Given the description of an element on the screen output the (x, y) to click on. 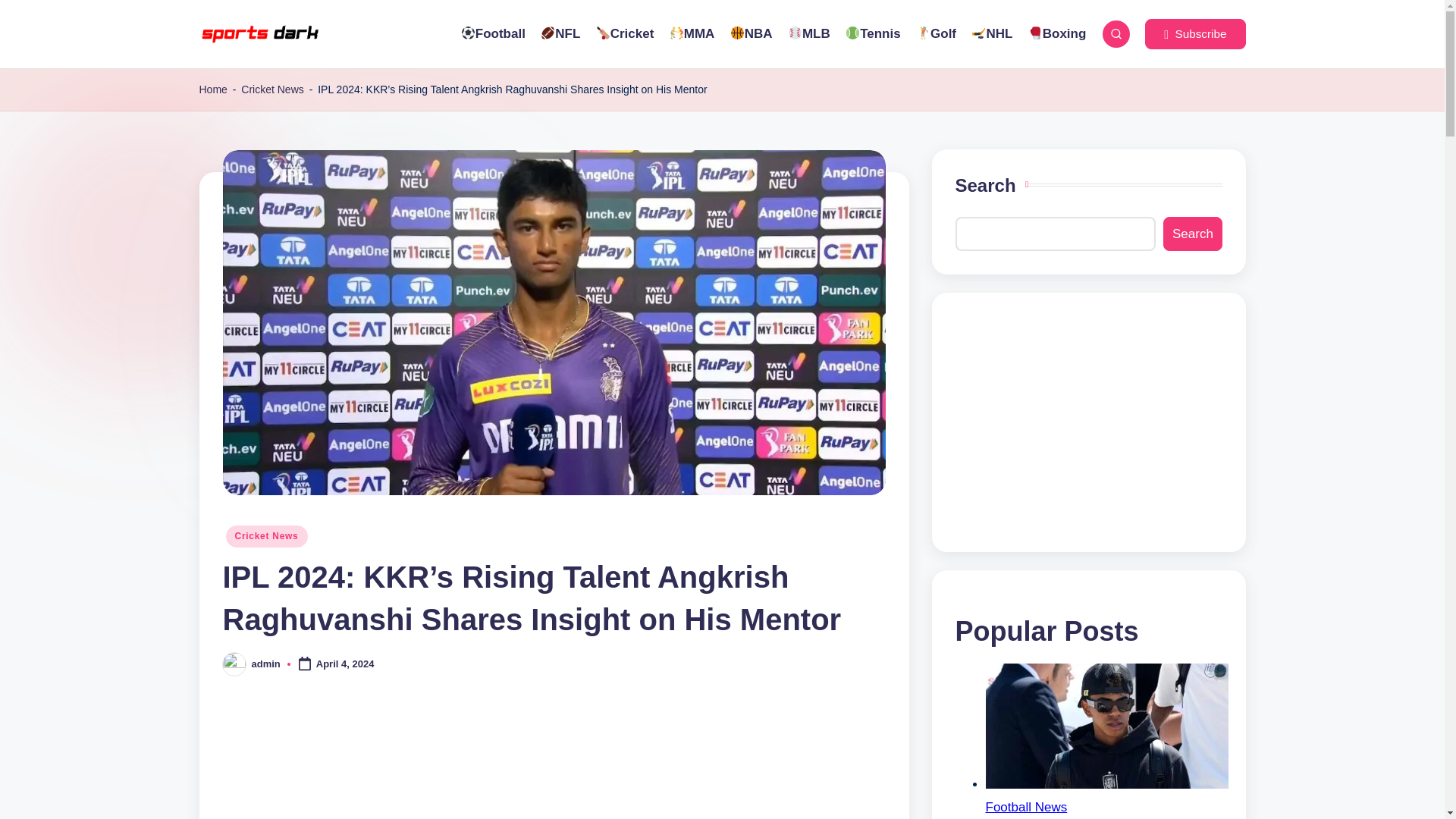
MMA (691, 33)
View all posts by admin (266, 663)
Home (212, 89)
Boxing (1056, 33)
Tennis (873, 33)
Cricket (624, 33)
Cricket News (271, 89)
NFL (559, 33)
Football (492, 33)
Advertisement (1089, 422)
MLB (808, 33)
admin (266, 663)
NHL (991, 33)
Golf (935, 33)
NBA (750, 33)
